Given the description of an element on the screen output the (x, y) to click on. 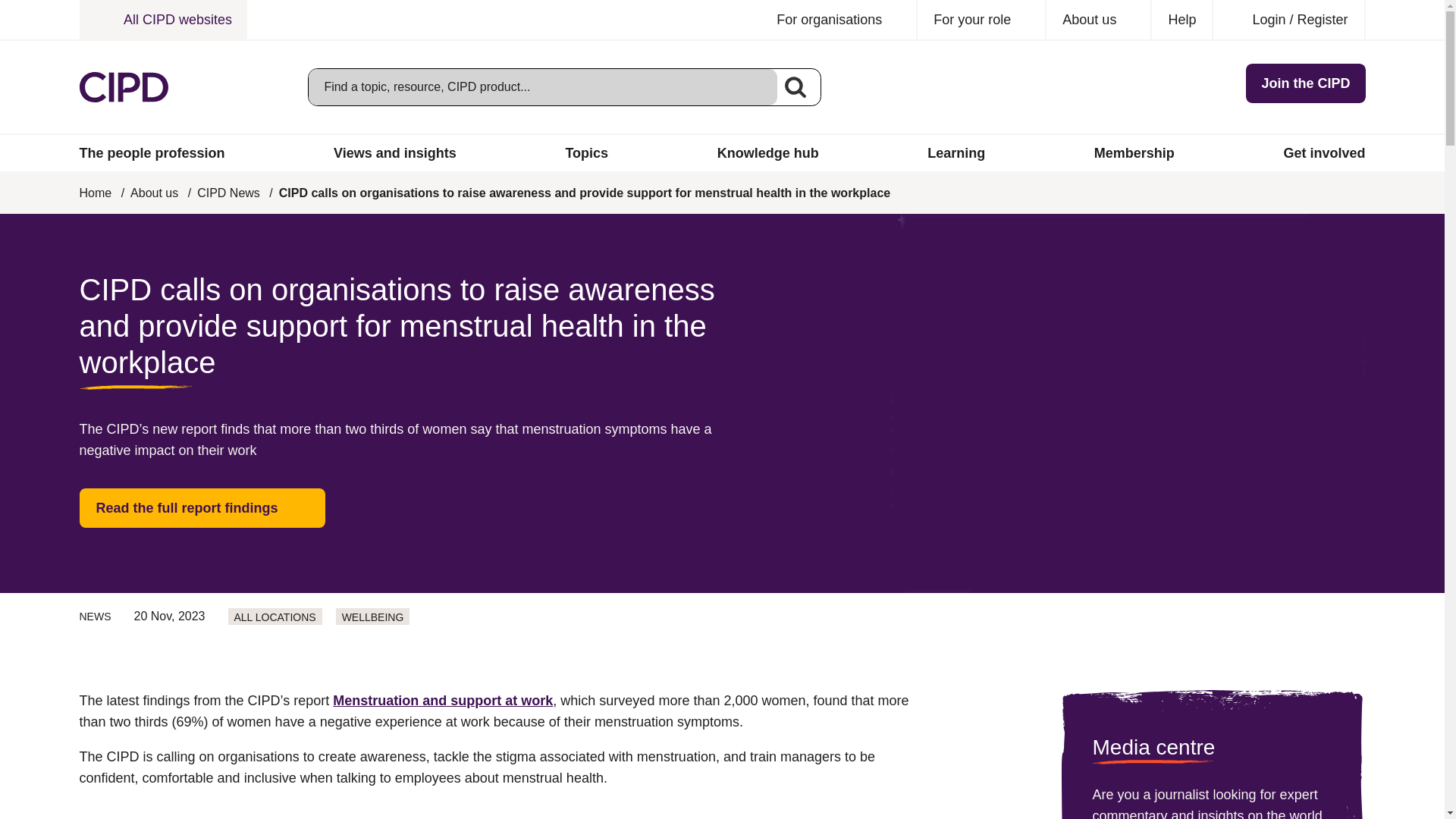
Join the CIPD (1305, 83)
For your role (981, 19)
Search (795, 86)
Search (795, 86)
All CIPD websites (162, 19)
For organisations (838, 19)
Help (1181, 19)
About us (1098, 19)
CIPD (123, 87)
Help (1181, 19)
